Given the description of an element on the screen output the (x, y) to click on. 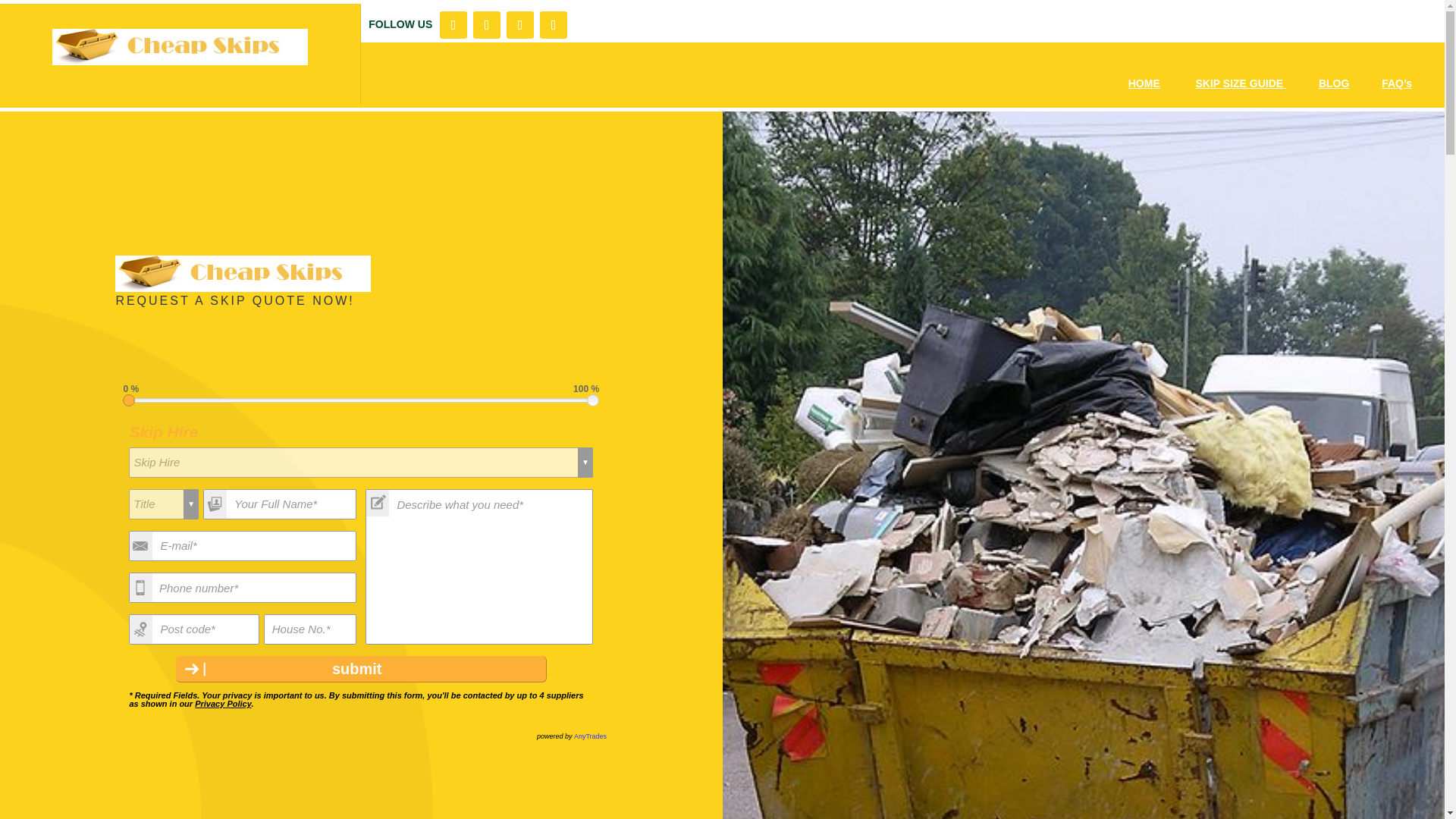
Follow on Pinterest (553, 24)
Cheap Skips (179, 46)
submit (361, 669)
BLOG (1334, 82)
HOME (1144, 82)
powered by AnyTrades (572, 736)
submit (361, 669)
SKIP SIZE GUIDE (1240, 82)
Follow on Facebook (453, 24)
Cheap Skips (243, 273)
Privacy Policy (222, 703)
Follow on X (486, 24)
Follow on Instagram (520, 24)
